Given the description of an element on the screen output the (x, y) to click on. 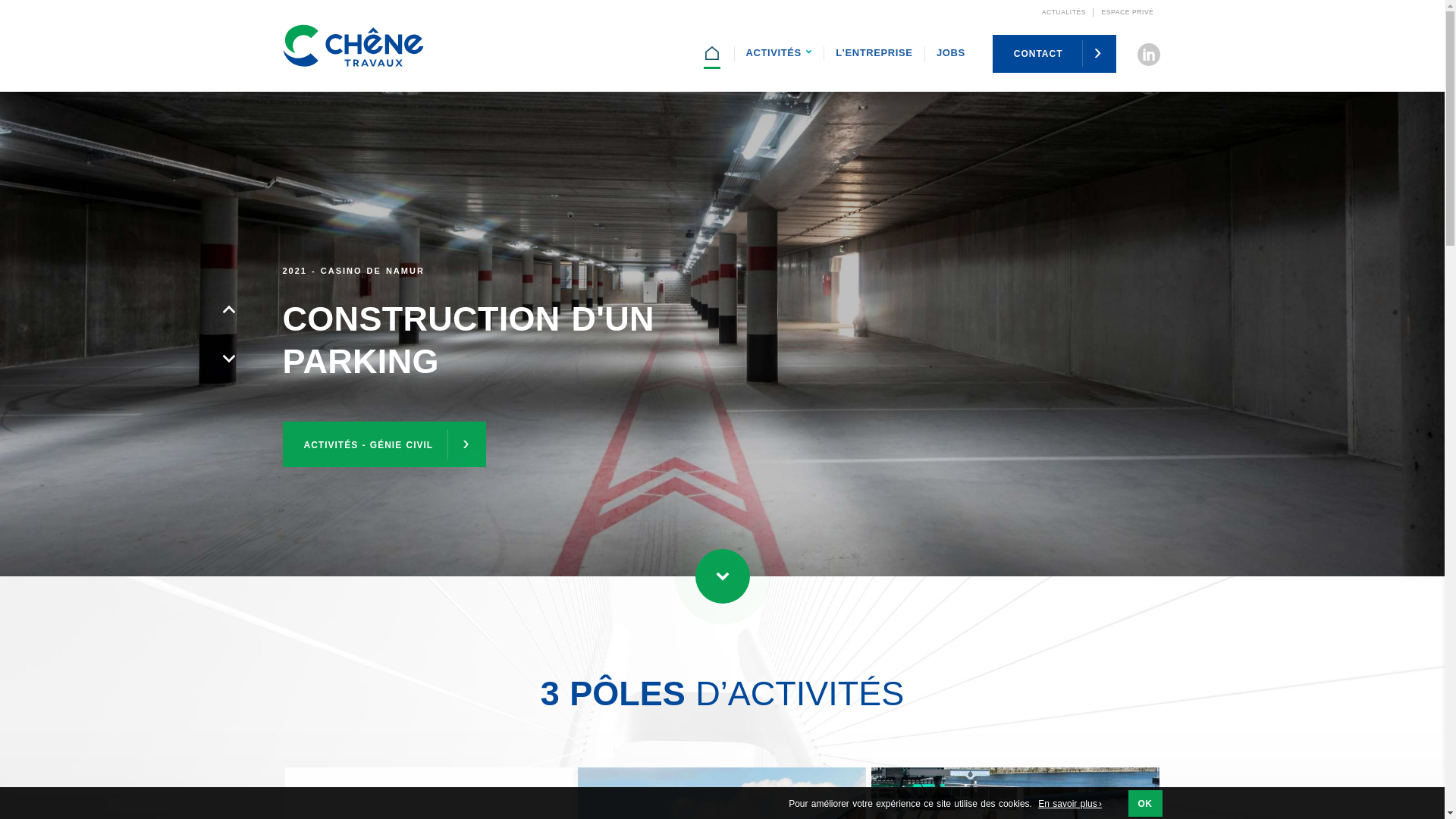
ACCUEIL Element type: text (712, 54)
OK Element type: text (1145, 803)
CONTACT Element type: text (1054, 53)
Linkedin Element type: hover (1147, 43)
JOBS Element type: text (950, 54)
